Given the description of an element on the screen output the (x, y) to click on. 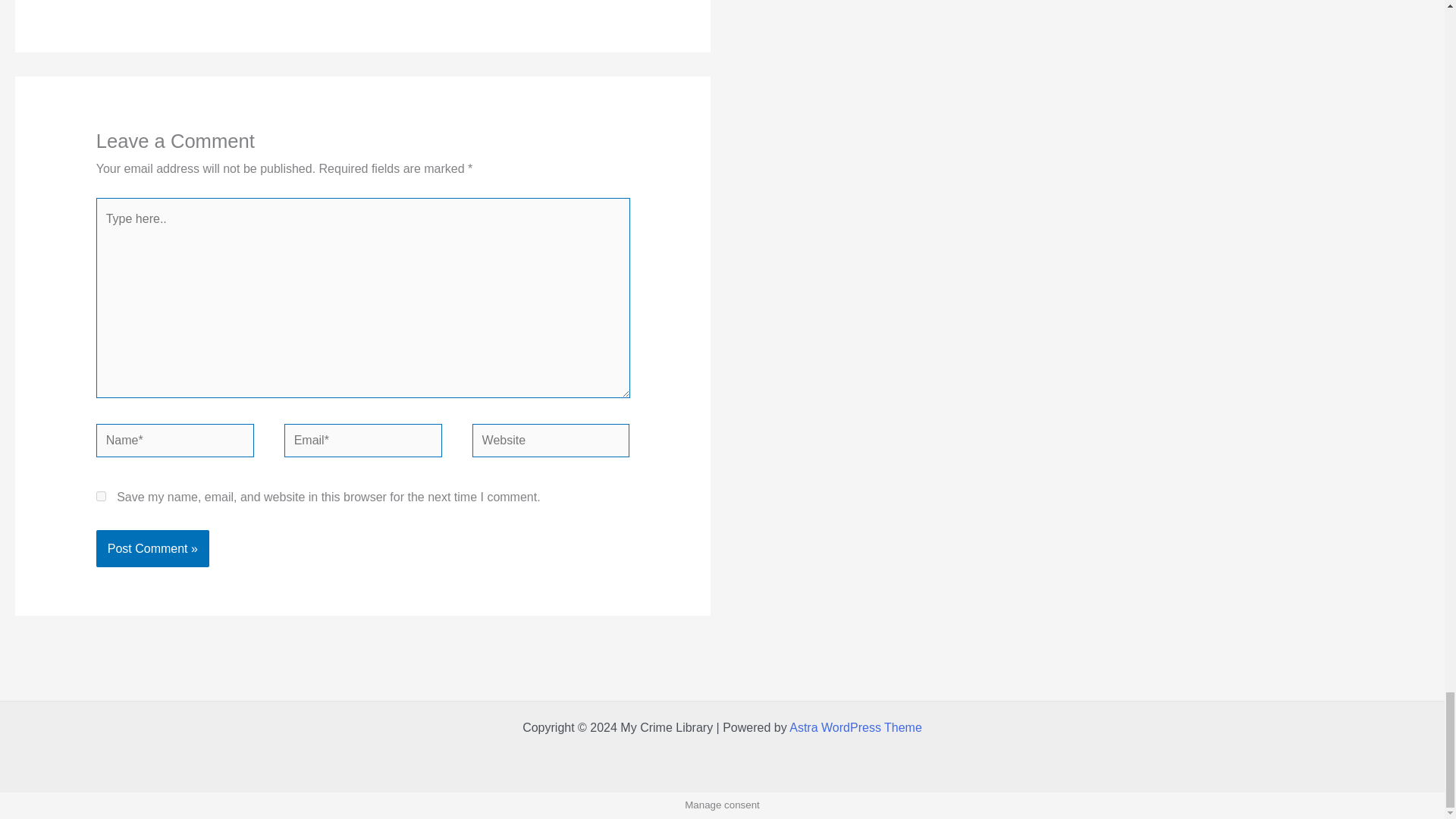
yes (101, 496)
